Given the description of an element on the screen output the (x, y) to click on. 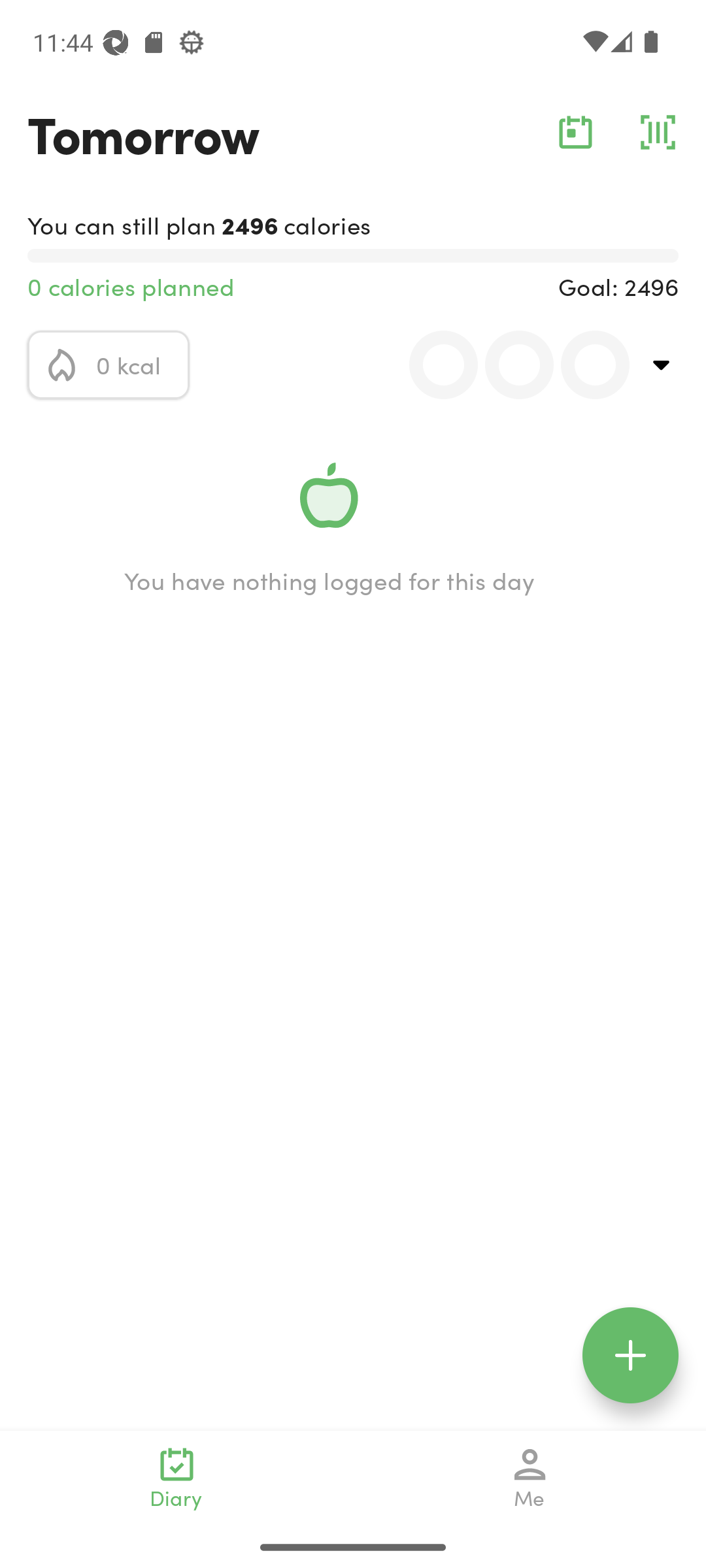
calendar_action (575, 132)
barcode_action (658, 132)
calorie_icon 0 kcal (108, 365)
0.0 0.0 0.0 (508, 365)
top_right_action (661, 365)
floating_action_icon (630, 1355)
Me navigation_icon (529, 1478)
